Given the description of an element on the screen output the (x, y) to click on. 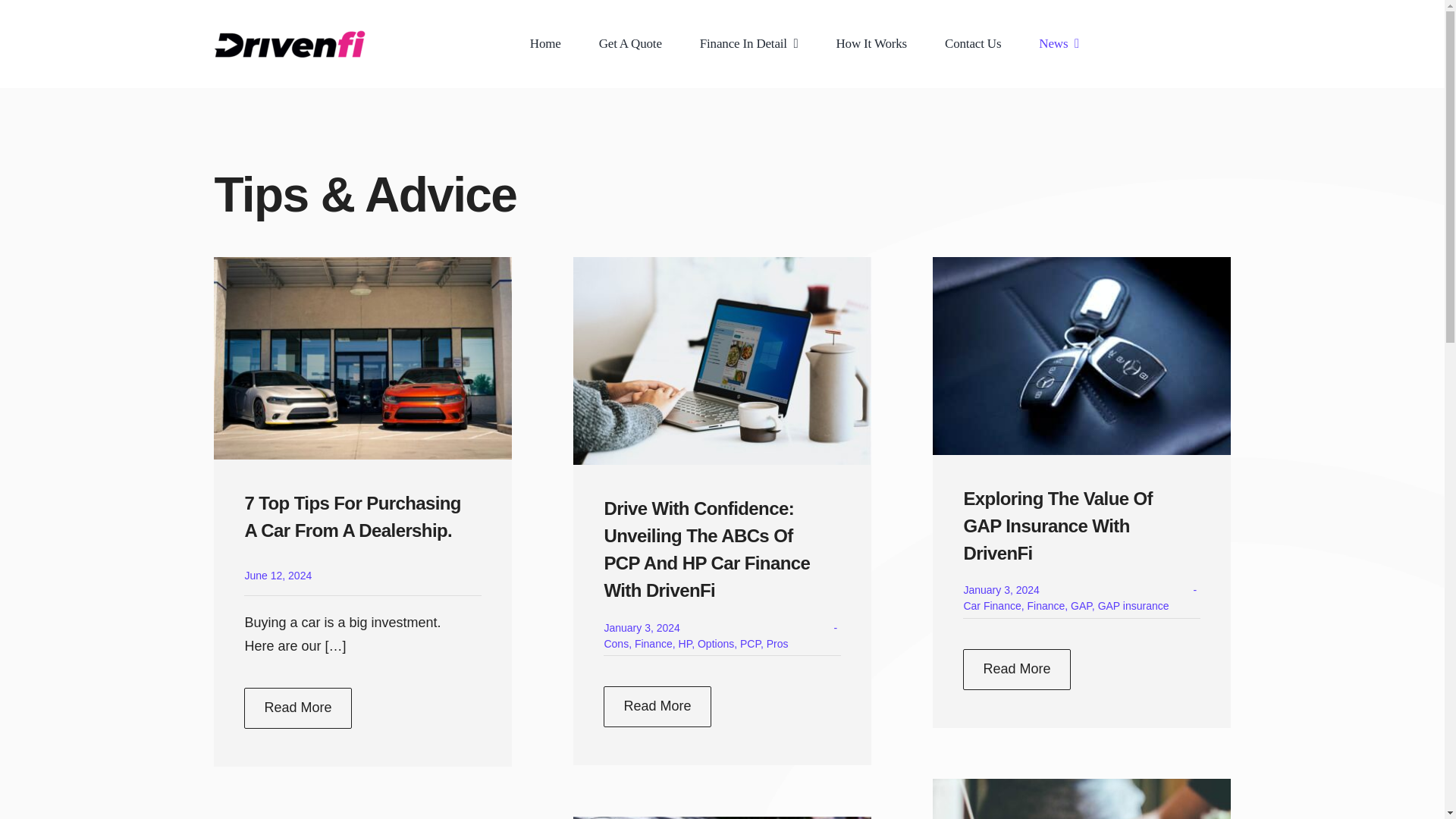
Contact Us (972, 43)
PCP (749, 644)
Finance (653, 644)
Read More (657, 706)
Pros (778, 644)
Get A Quote (630, 43)
Options (715, 644)
Finance In Detail (748, 43)
Cons (616, 644)
How It Works (871, 43)
News (1058, 43)
HP (685, 644)
Home (544, 43)
Read More (297, 707)
